Given the description of an element on the screen output the (x, y) to click on. 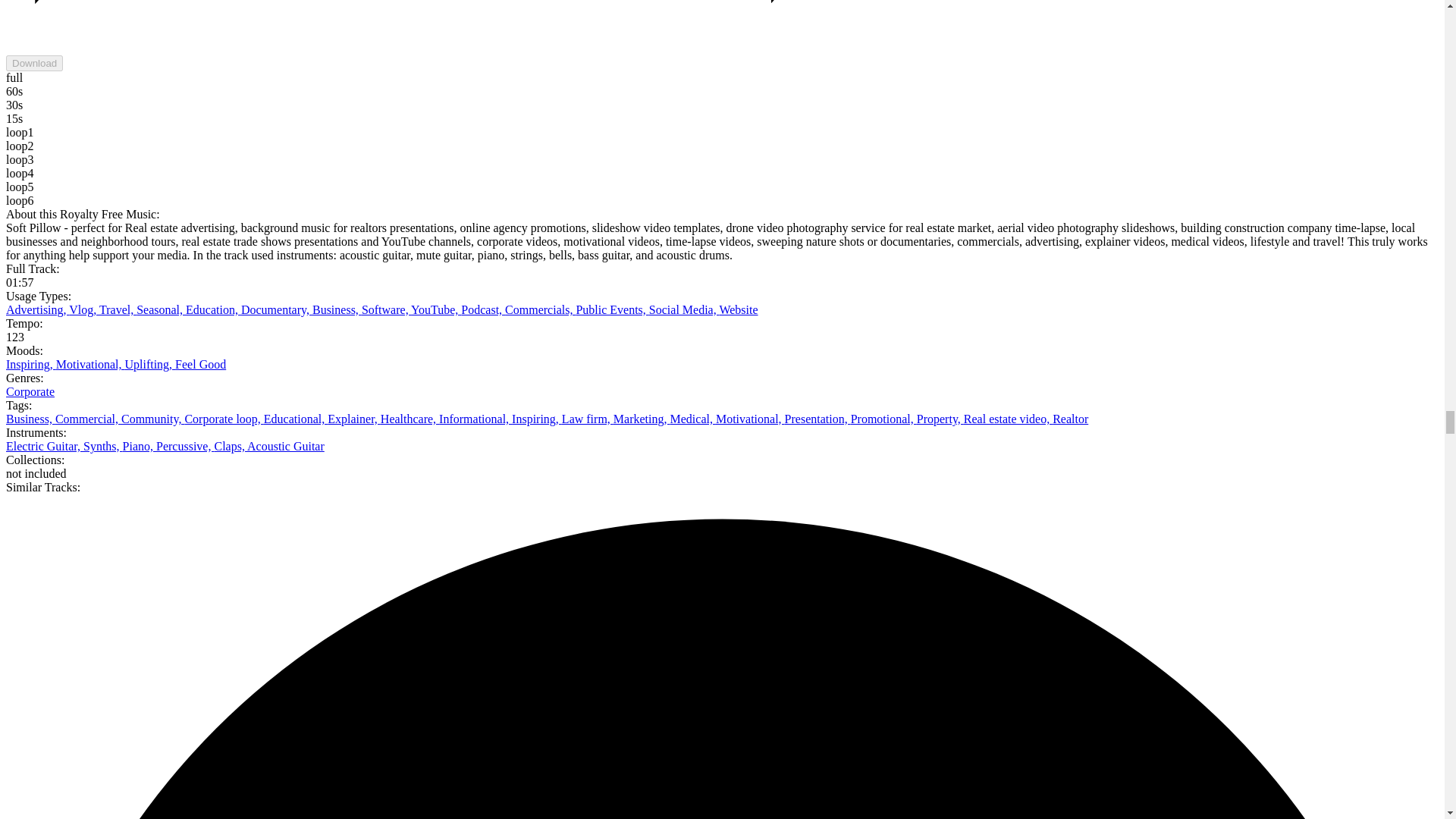
Commercial, (87, 418)
Seasonal, (161, 309)
Podcast, (483, 309)
Software, (385, 309)
Motivational, (90, 364)
Uplifting, (148, 364)
Inspiring, (30, 364)
Travel, (117, 309)
Vlog, (83, 309)
Documentary, (277, 309)
Advertising, (36, 309)
Feel Good (199, 364)
Corporate (30, 391)
Website (738, 309)
Public Events, (611, 309)
